Given the description of an element on the screen output the (x, y) to click on. 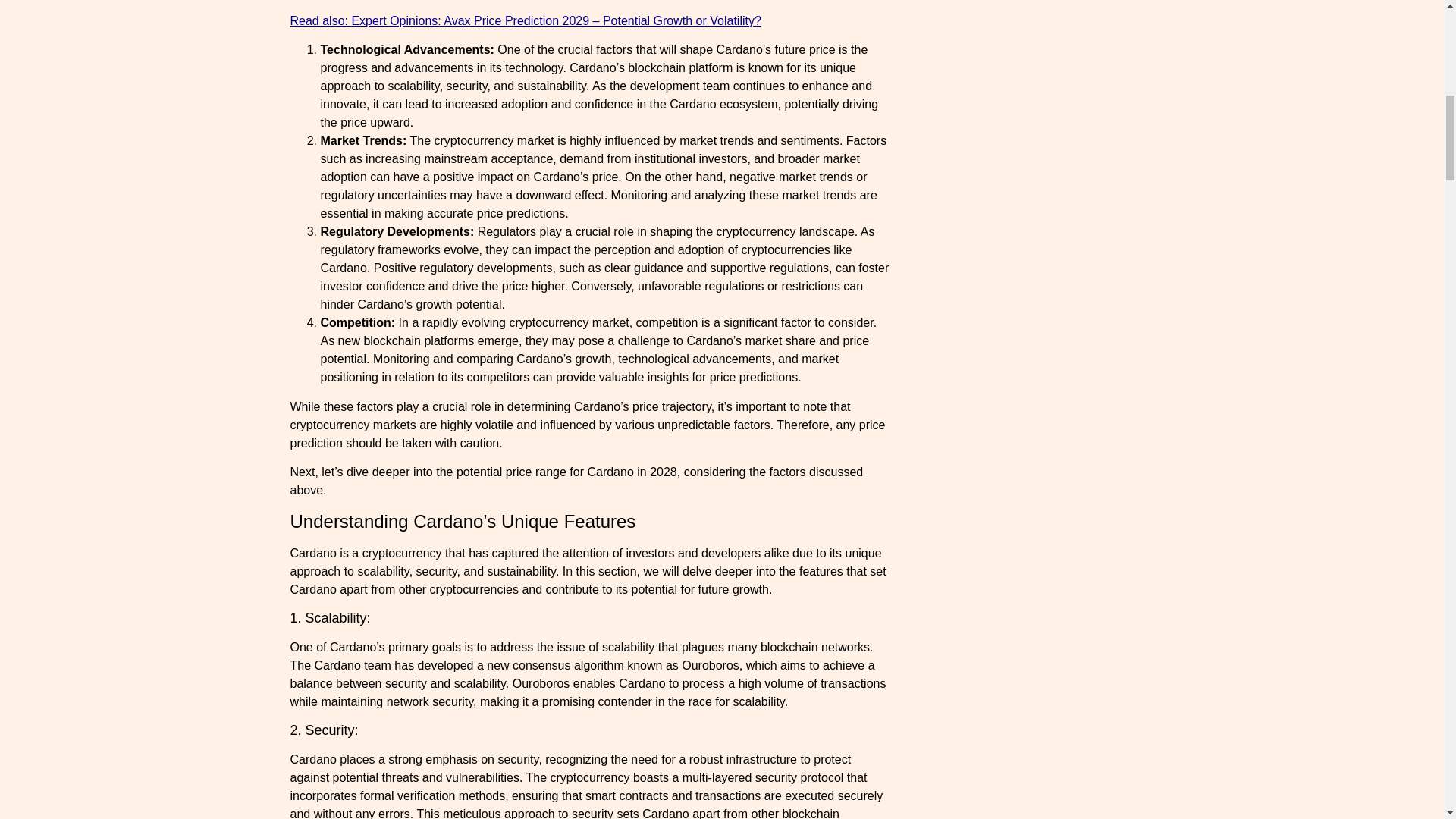
platform (710, 67)
